Given the description of an element on the screen output the (x, y) to click on. 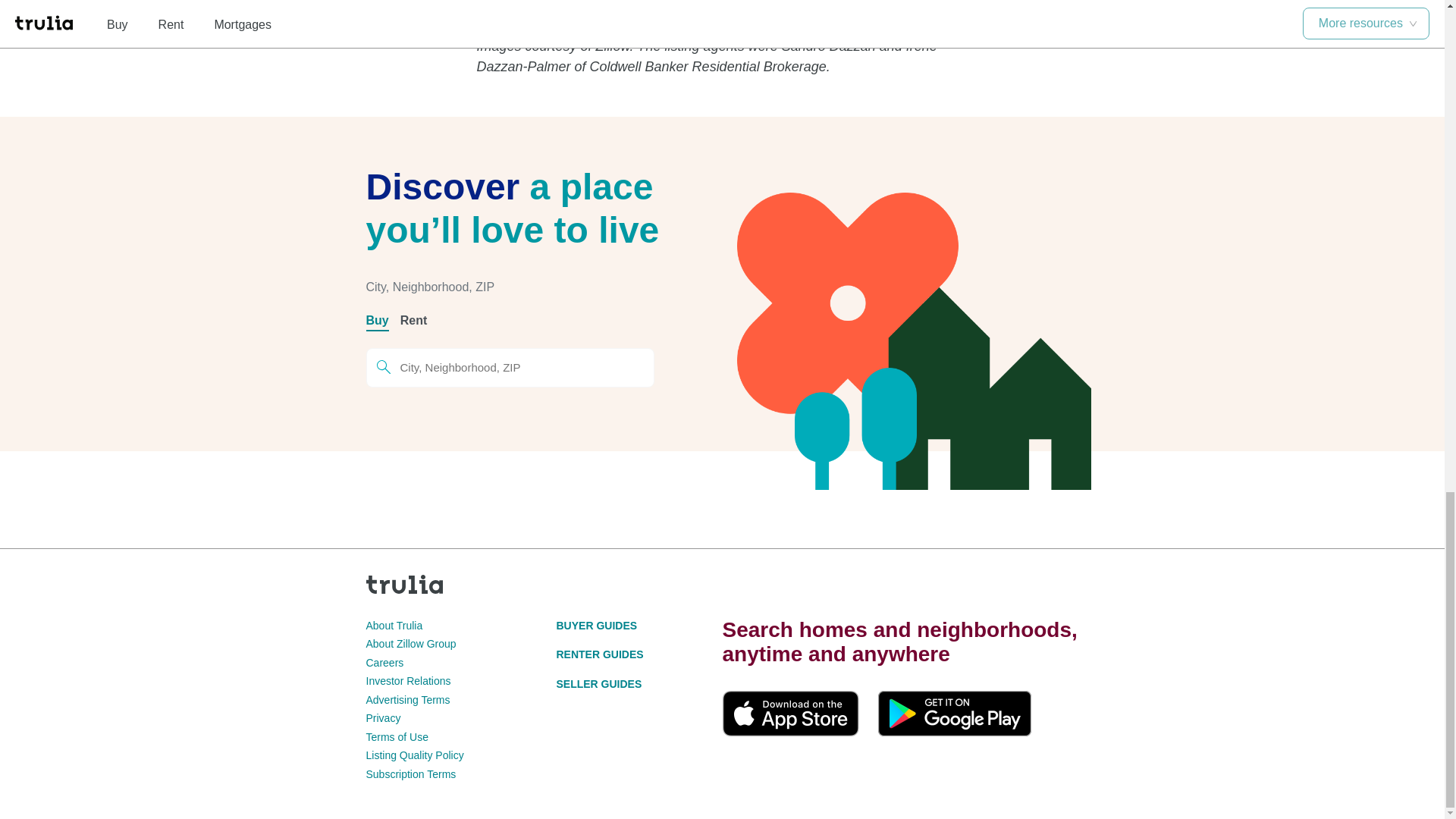
Subscription Terms (410, 774)
Privacy (382, 717)
Terms of Use (396, 736)
Careers (384, 662)
About Trulia (393, 625)
Investor Relations (407, 680)
About Zillow Group (410, 644)
Download Apple App (790, 713)
Download Android App (953, 713)
Listing Quality Policy (414, 755)
Advertising Terms (407, 699)
